Given the description of an element on the screen output the (x, y) to click on. 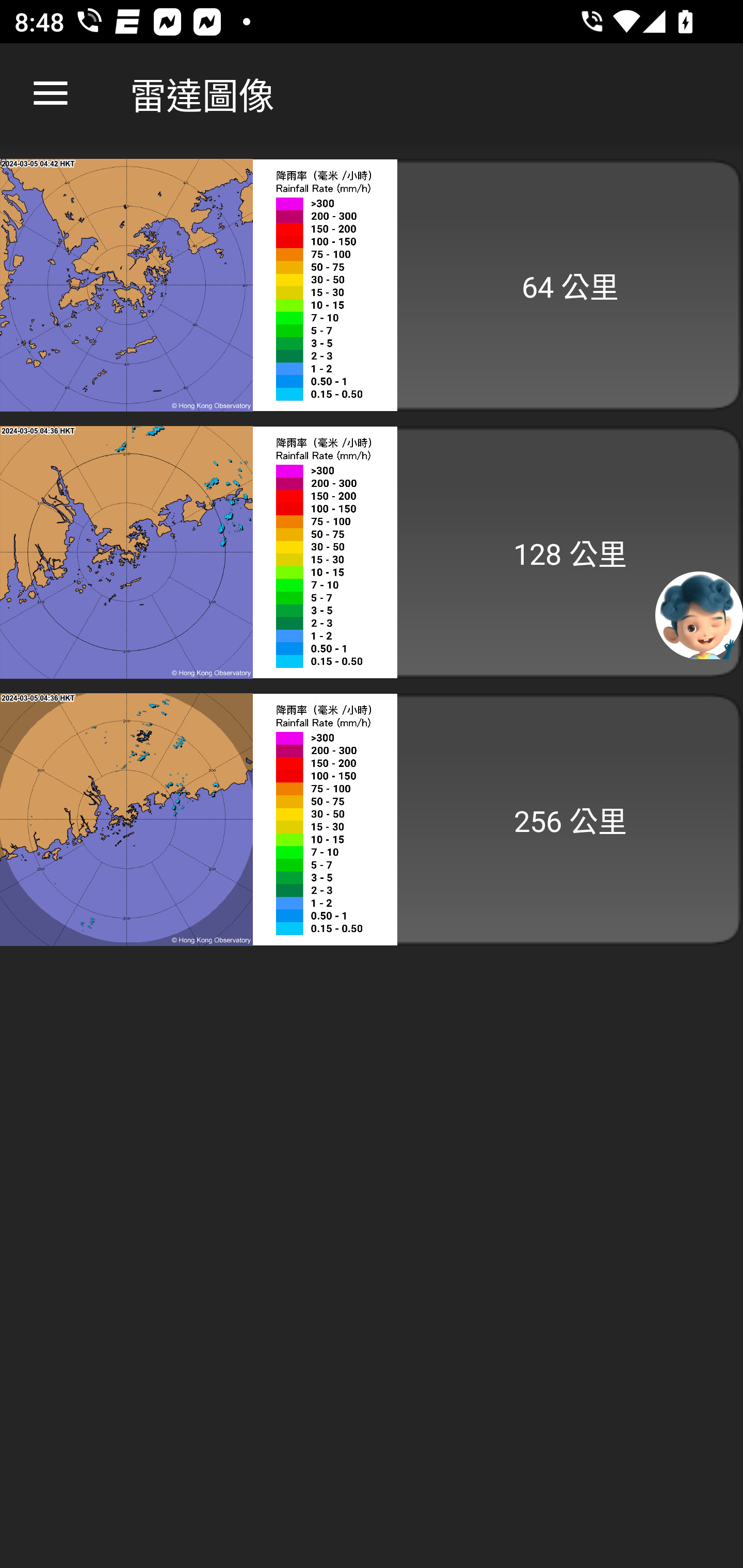
向上瀏覽 (50, 93)
64 公里 (371, 284)
128 公里 (371, 552)
聊天機械人 (699, 614)
256 公里 (371, 819)
